Given the description of an element on the screen output the (x, y) to click on. 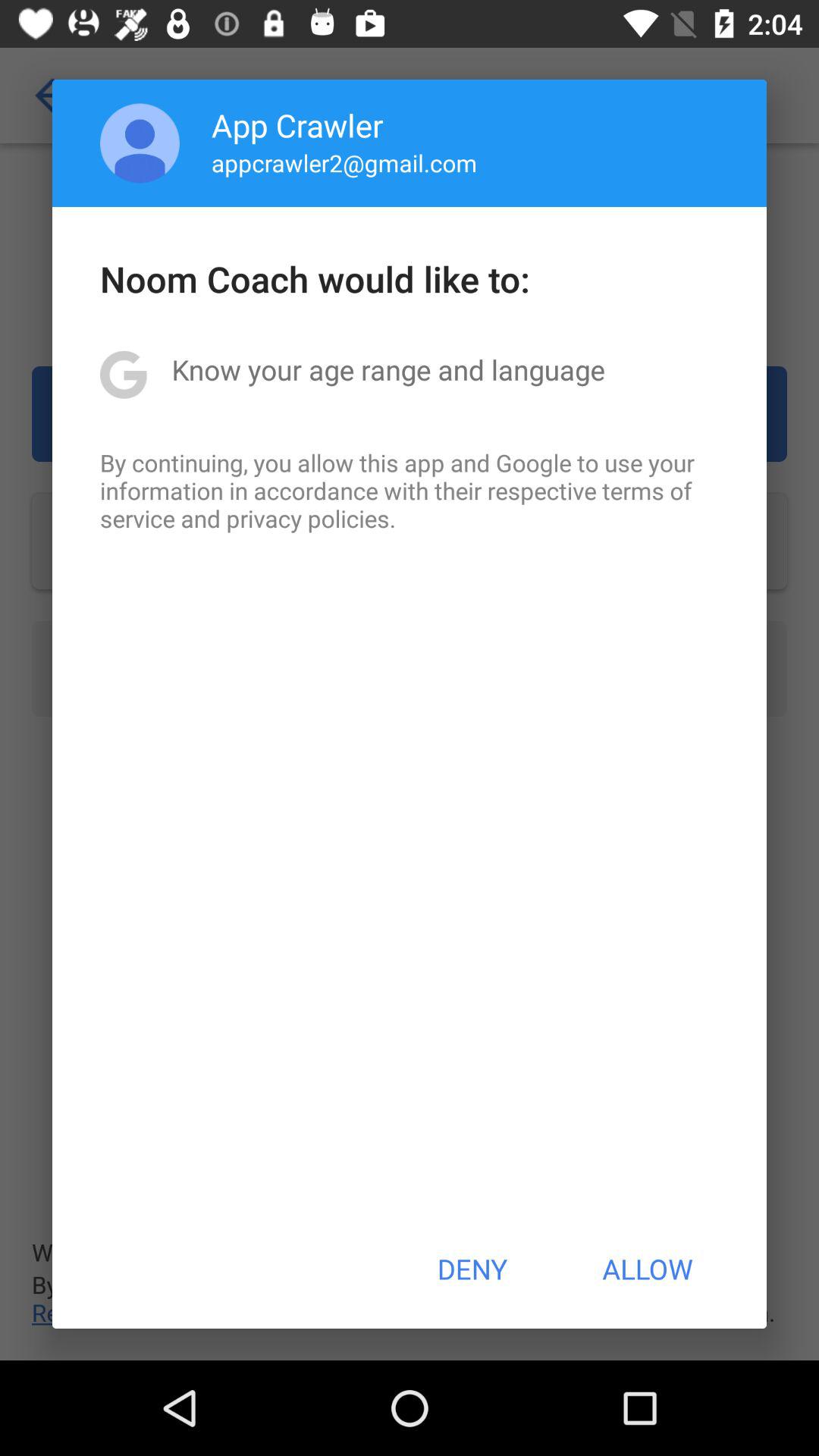
choose the app above the noom coach would app (344, 162)
